Given the description of an element on the screen output the (x, y) to click on. 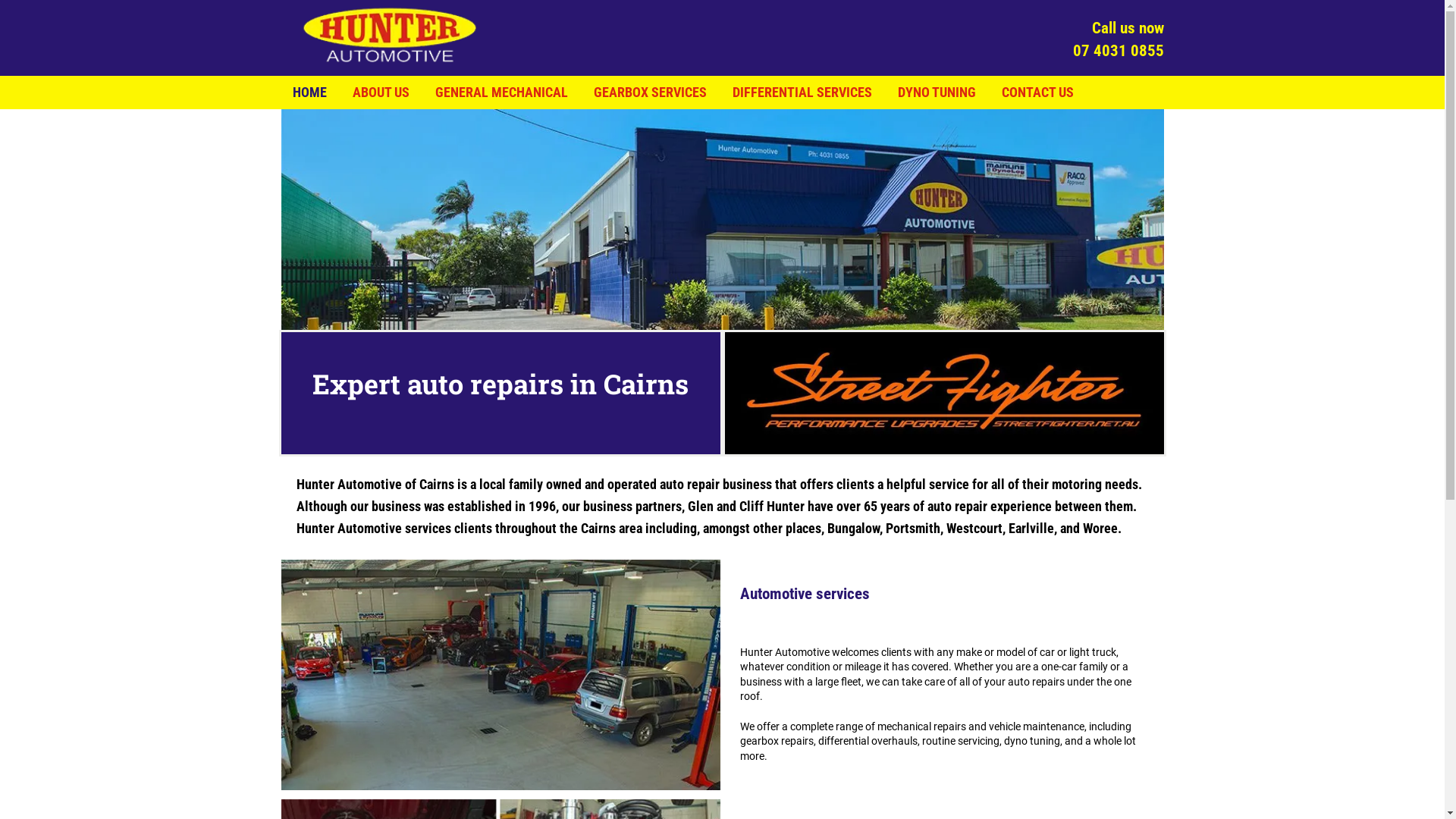
CONTACT US Element type: text (1037, 92)
DIFFERENTIAL SERVICES Element type: text (802, 92)
hunter automotive our service center  Element type: hover (721, 219)
GEARBOX SERVICES Element type: text (649, 92)
ABOUT US Element type: text (379, 92)
GENERAL MECHANICAL Element type: text (501, 92)
DYNO TUNING Element type: text (936, 92)
HOME Element type: text (309, 92)
Street Fighter Logo mk3-resize Element type: hover (944, 393)
07 4031 0855 Element type: text (1117, 50)
hunter automotive logo Element type: hover (389, 34)
hunter automotive services workshop Element type: hover (499, 674)
